Given the description of an element on the screen output the (x, y) to click on. 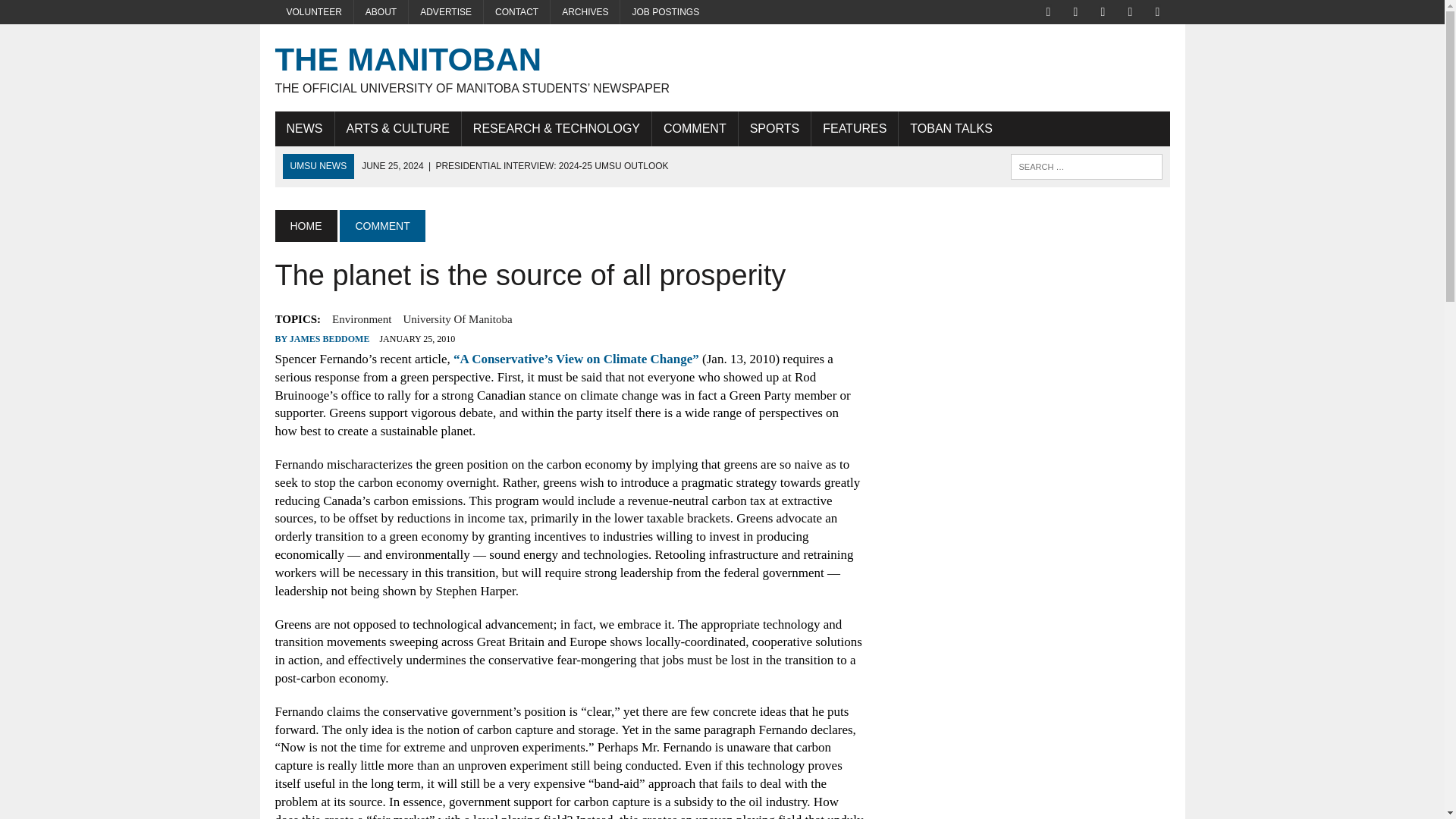
ADVERTISE (446, 12)
COMMENT (695, 128)
ABOUT (380, 12)
SPORTS (774, 128)
NEWS (304, 128)
The Manitoban (722, 67)
VOLUNTEER (313, 12)
FEATURES (854, 128)
Search (75, 14)
HOME (305, 225)
